Given the description of an element on the screen output the (x, y) to click on. 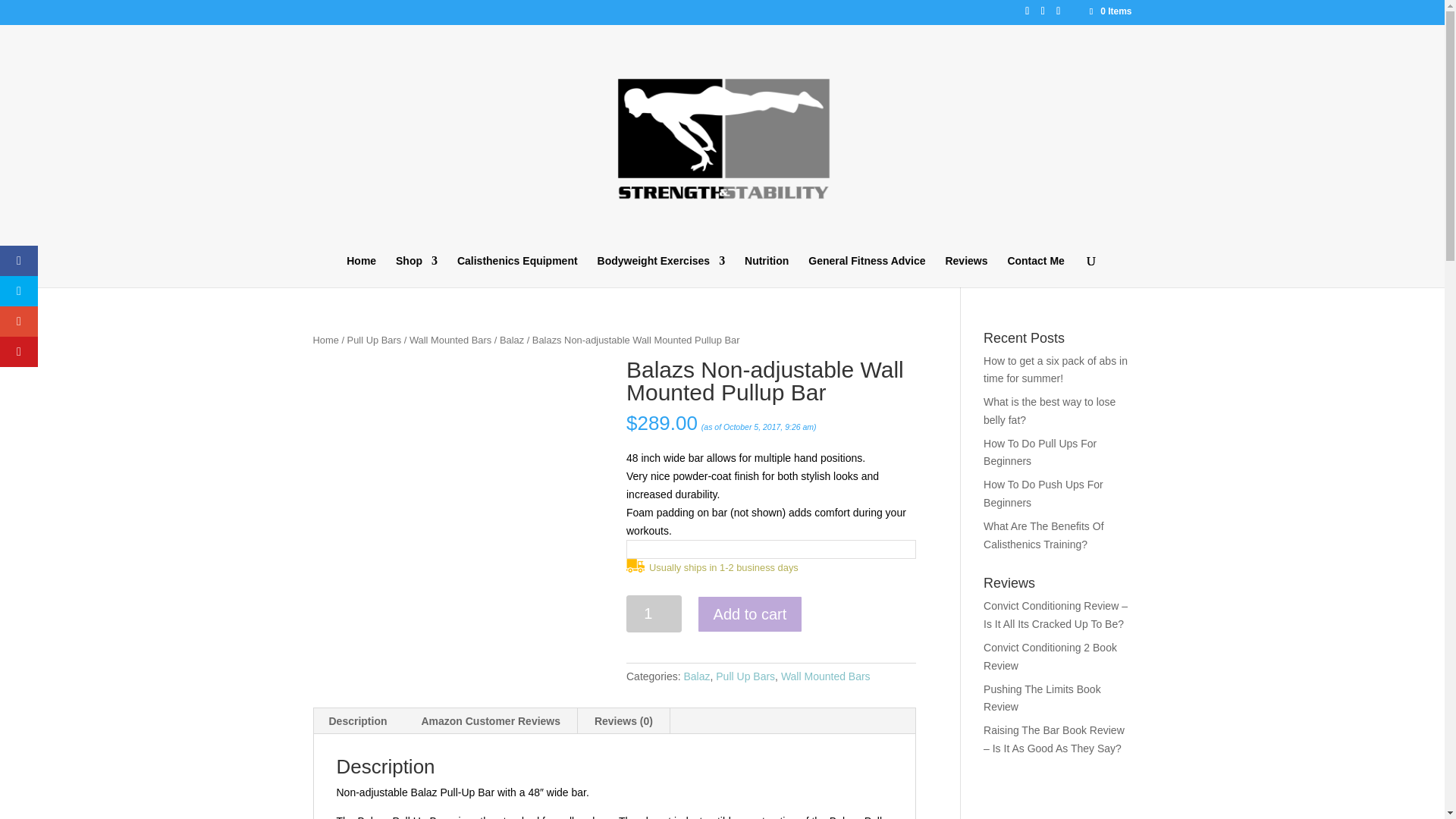
Balaz (511, 338)
Contact Me (1035, 270)
Wall Mounted Bars (450, 338)
Bodyweight Exercises (660, 270)
Pull Up Bars (374, 338)
Reviews (965, 270)
Nutrition (766, 270)
0 Items (1108, 10)
Home (360, 270)
Home (325, 338)
Shop (417, 270)
1 (653, 613)
Calisthenics Equipment (517, 270)
General Fitness Advice (866, 270)
